Given the description of an element on the screen output the (x, y) to click on. 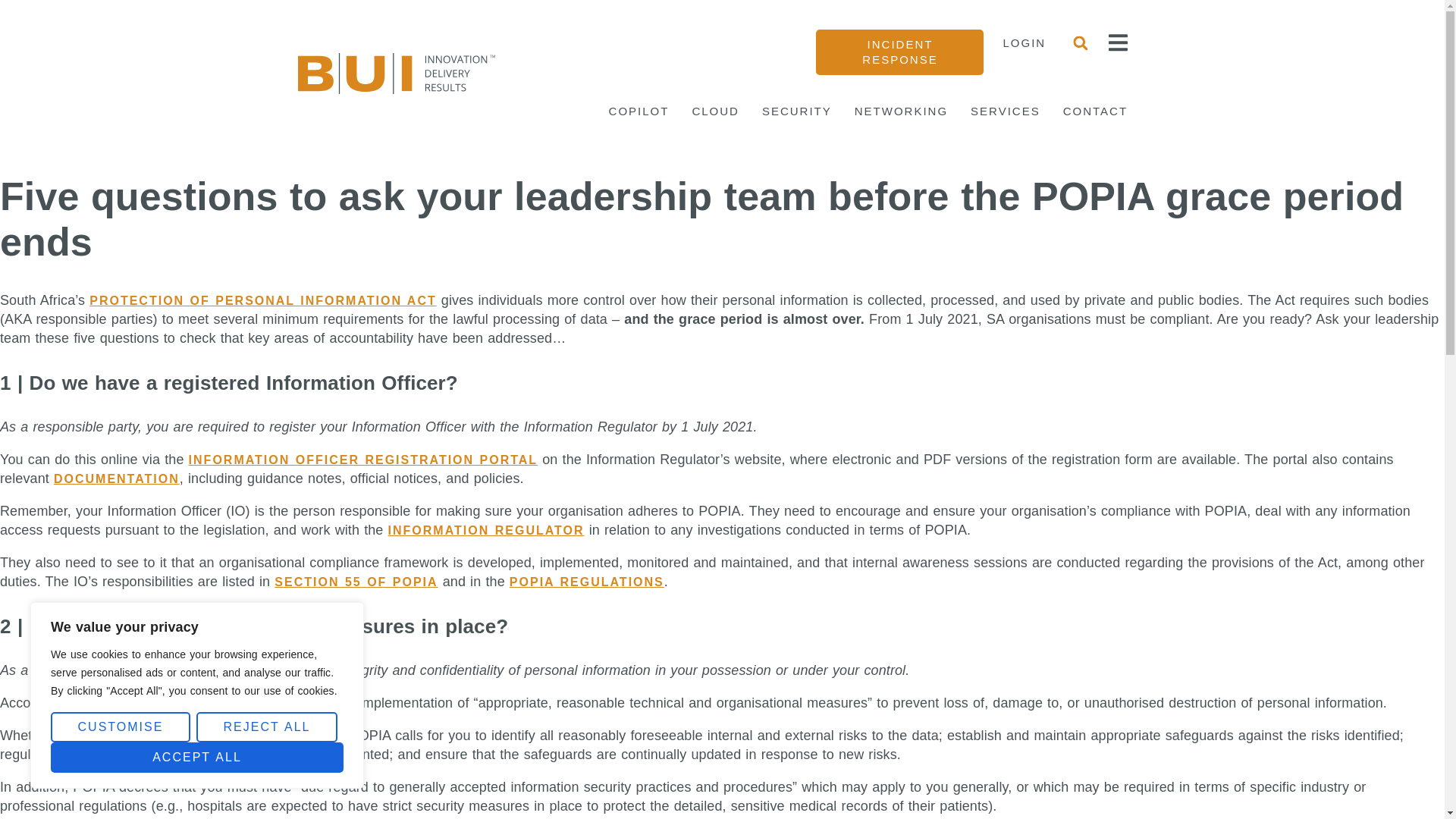
INCIDENT RESPONSE (899, 52)
CLOUD (715, 111)
CUSTOMISE (120, 726)
LOGIN (1024, 42)
REJECT ALL (266, 726)
SECURITY (796, 111)
NETWORKING (900, 111)
COPILOT (638, 111)
CONTACT (1094, 111)
SERVICES (1006, 111)
ACCEPT ALL (196, 757)
